Given the description of an element on the screen output the (x, y) to click on. 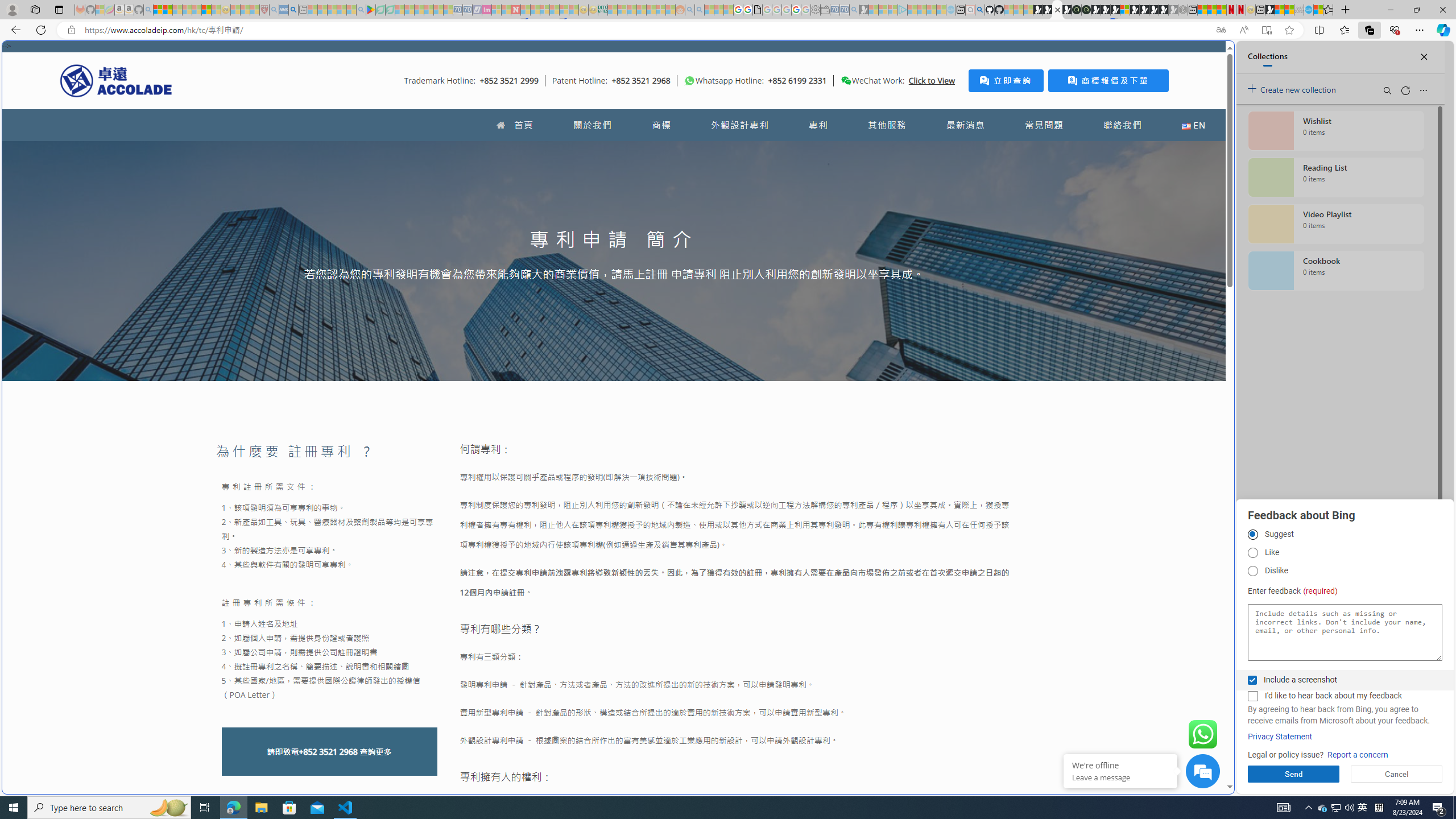
utah sues federal government - Search (292, 9)
Accolade IP HK Logo (116, 80)
google - Search - Sleeping (360, 9)
Class: desktop (845, 80)
Report a concern (1358, 755)
